Given the description of an element on the screen output the (x, y) to click on. 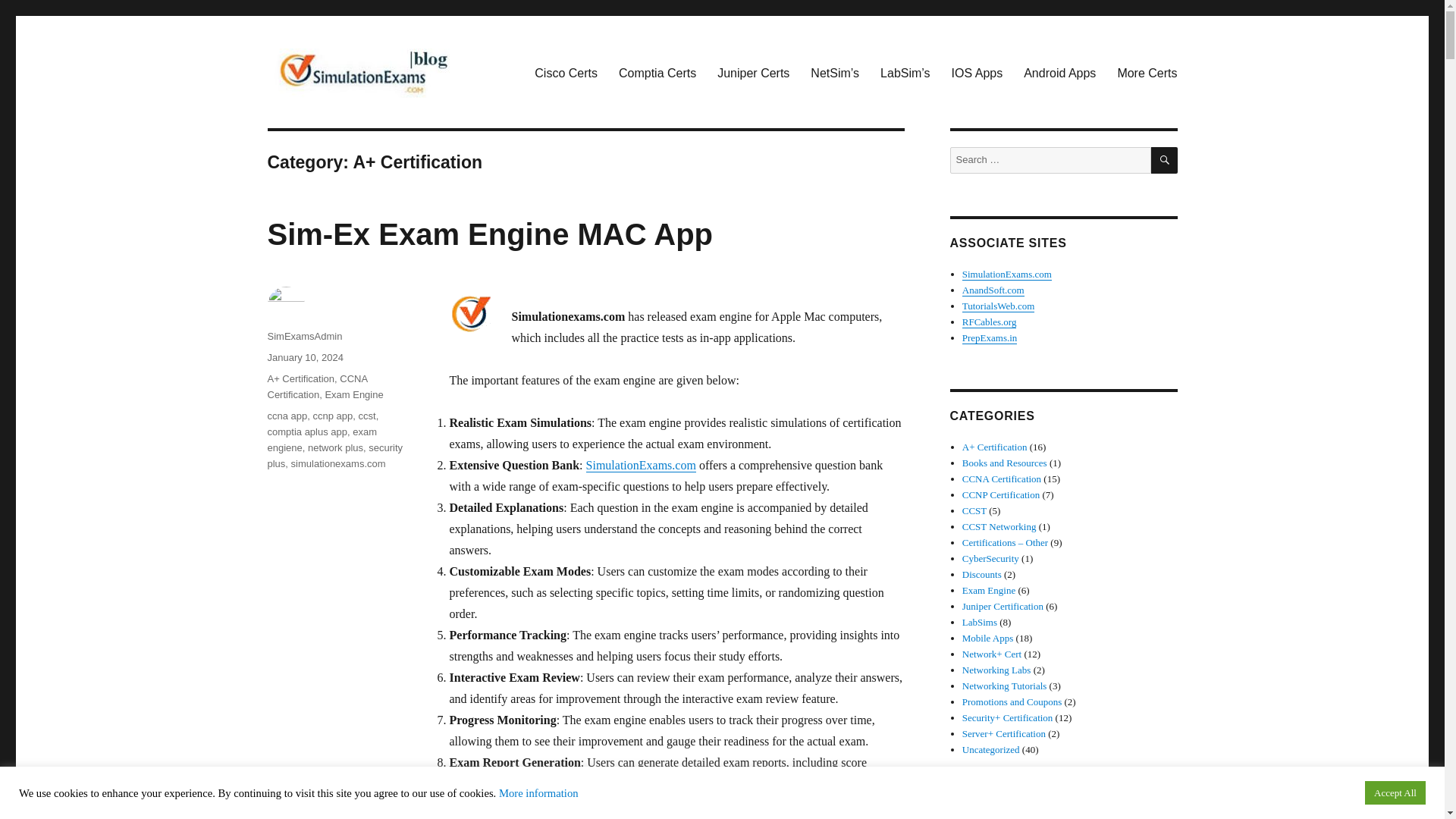
ccst (366, 415)
ccna app (286, 415)
More Certs (1147, 73)
simulationexams.com (338, 463)
SimExamsAdmin (304, 336)
CCNA Certification (316, 386)
Comptia Certs (657, 73)
January 10, 2024 (304, 357)
security plus (334, 455)
Cisco Certs (566, 73)
